Given the description of an element on the screen output the (x, y) to click on. 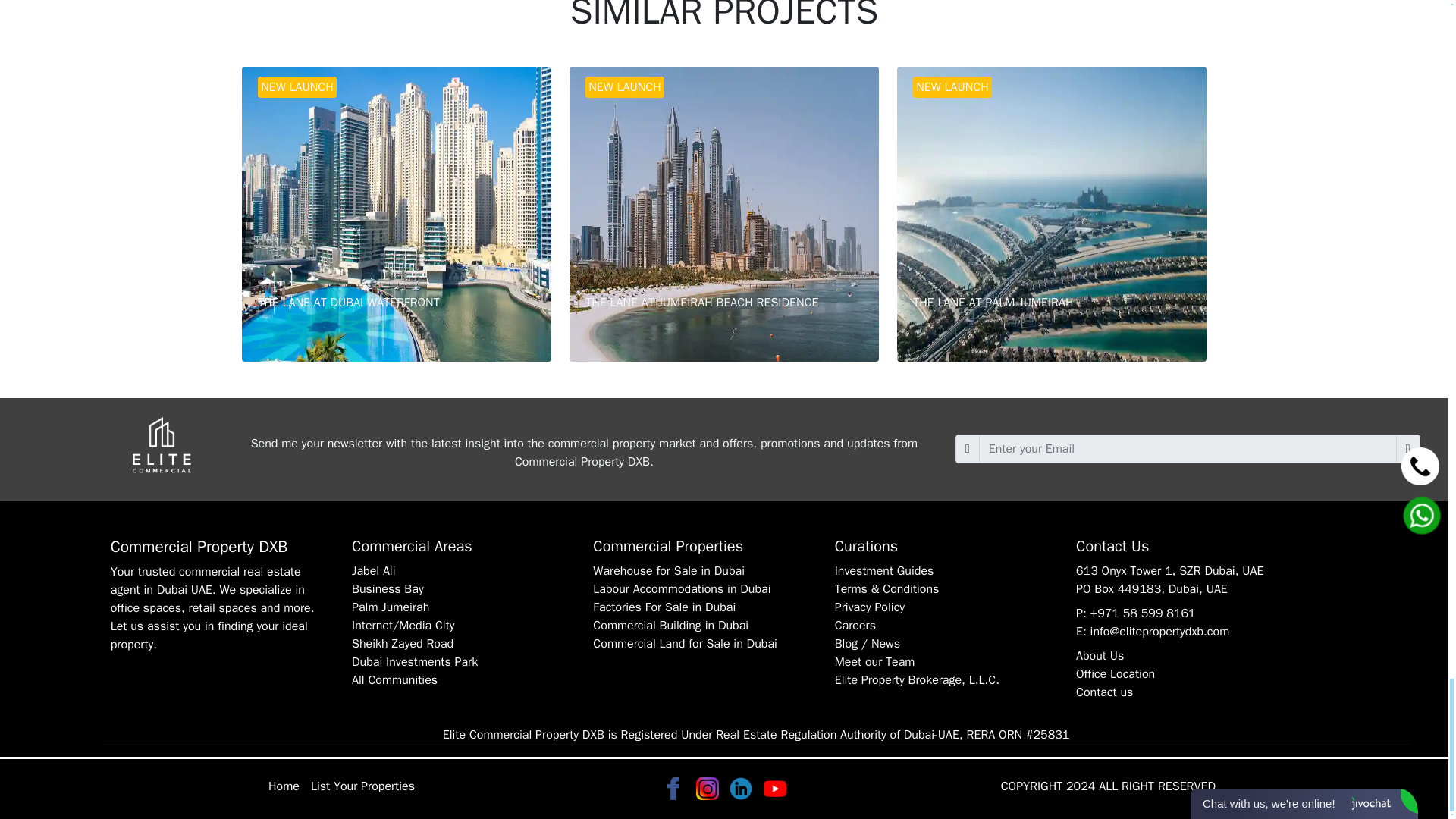
Jabel Ali (374, 570)
Palm Jumeirah (390, 607)
All Communities (396, 213)
Dubai Investments Park (1051, 213)
Sheikh Zayed Road (395, 679)
Business Bay (414, 661)
